Given the description of an element on the screen output the (x, y) to click on. 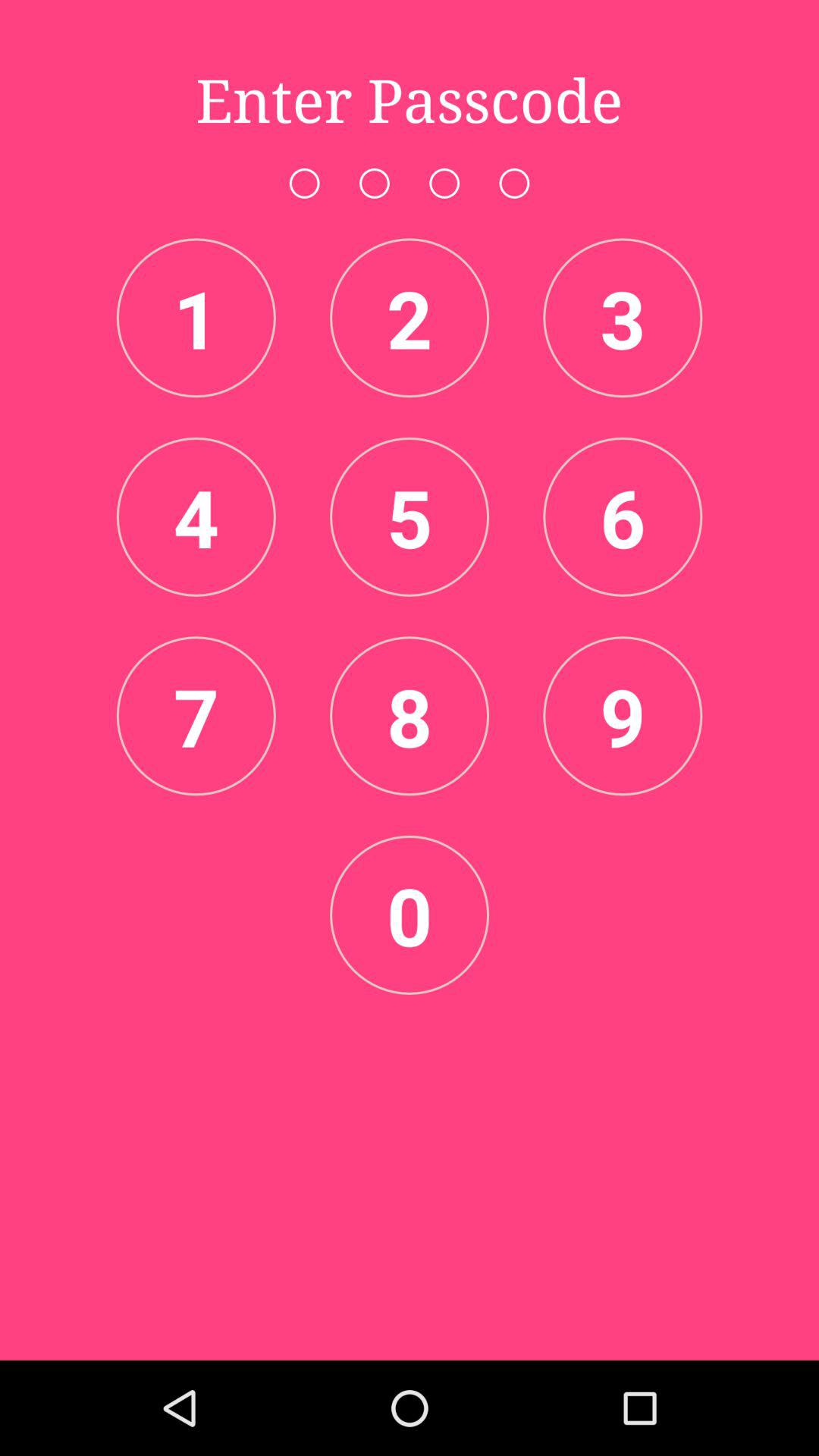
tap icon next to the 8 item (622, 715)
